Given the description of an element on the screen output the (x, y) to click on. 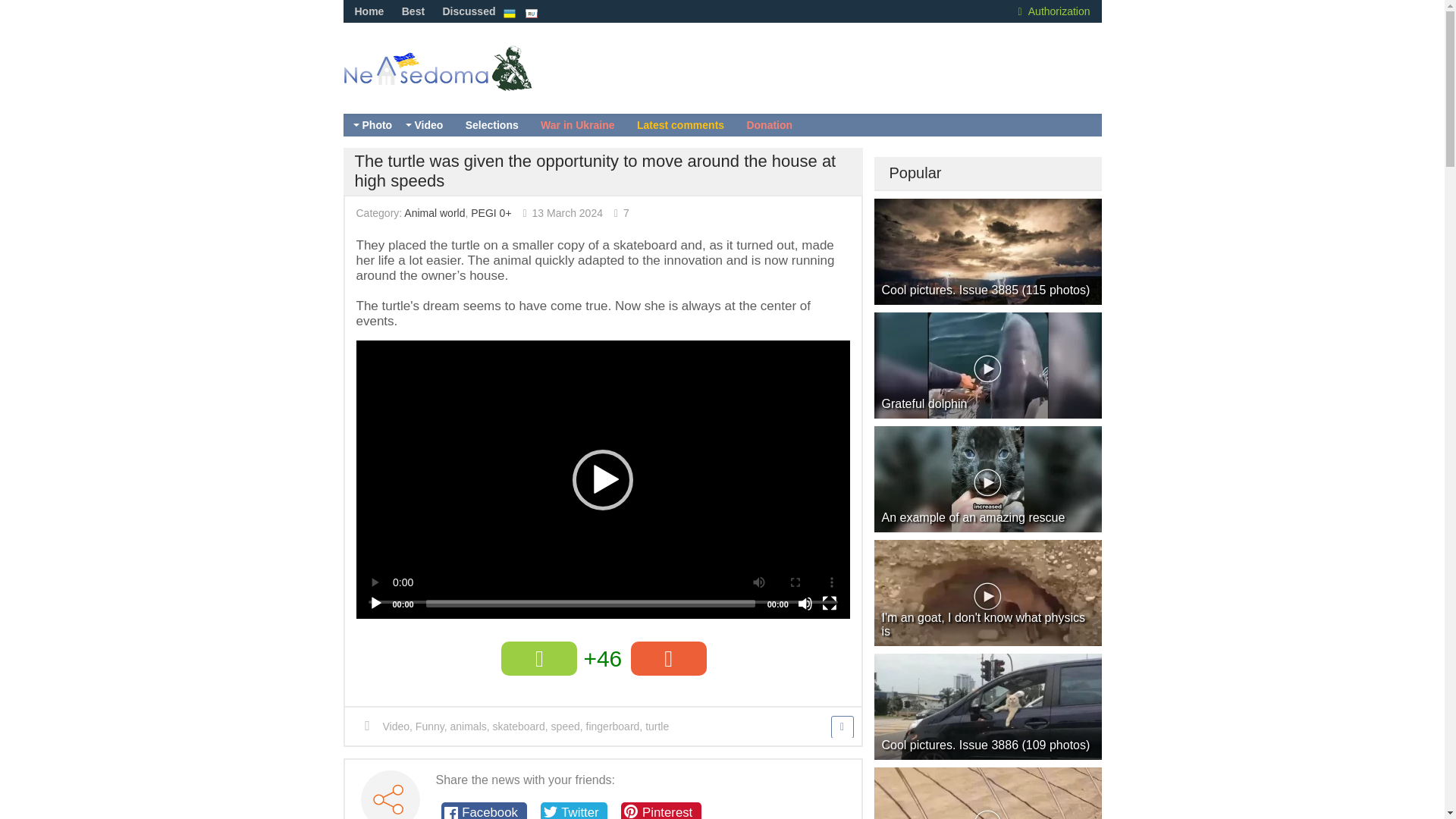
Play (376, 603)
Discussed (468, 10)
Photo (376, 124)
Nevsedoma (463, 83)
Home (369, 10)
To main (463, 83)
Video (428, 124)
Fullscreen (829, 603)
Best (413, 10)
Mute (804, 603)
